Given the description of an element on the screen output the (x, y) to click on. 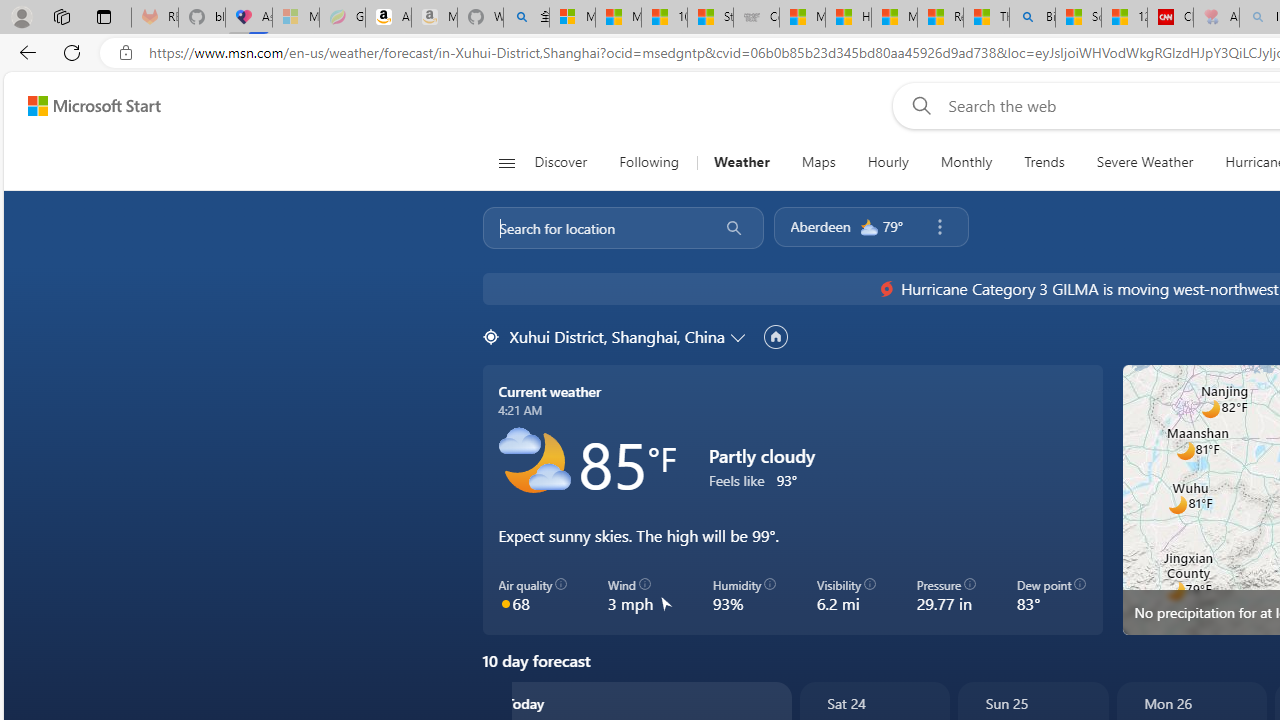
Xuhui District, Shanghai, China (616, 336)
Current (65, 451)
Pressure 29.77 in (946, 595)
Hourly (888, 162)
Wind (1230, 396)
Join us in planting real trees to help our planet! (40, 325)
Severe Weather (1144, 162)
Join us in planting real trees to help our planet! (40, 327)
